Given the description of an element on the screen output the (x, y) to click on. 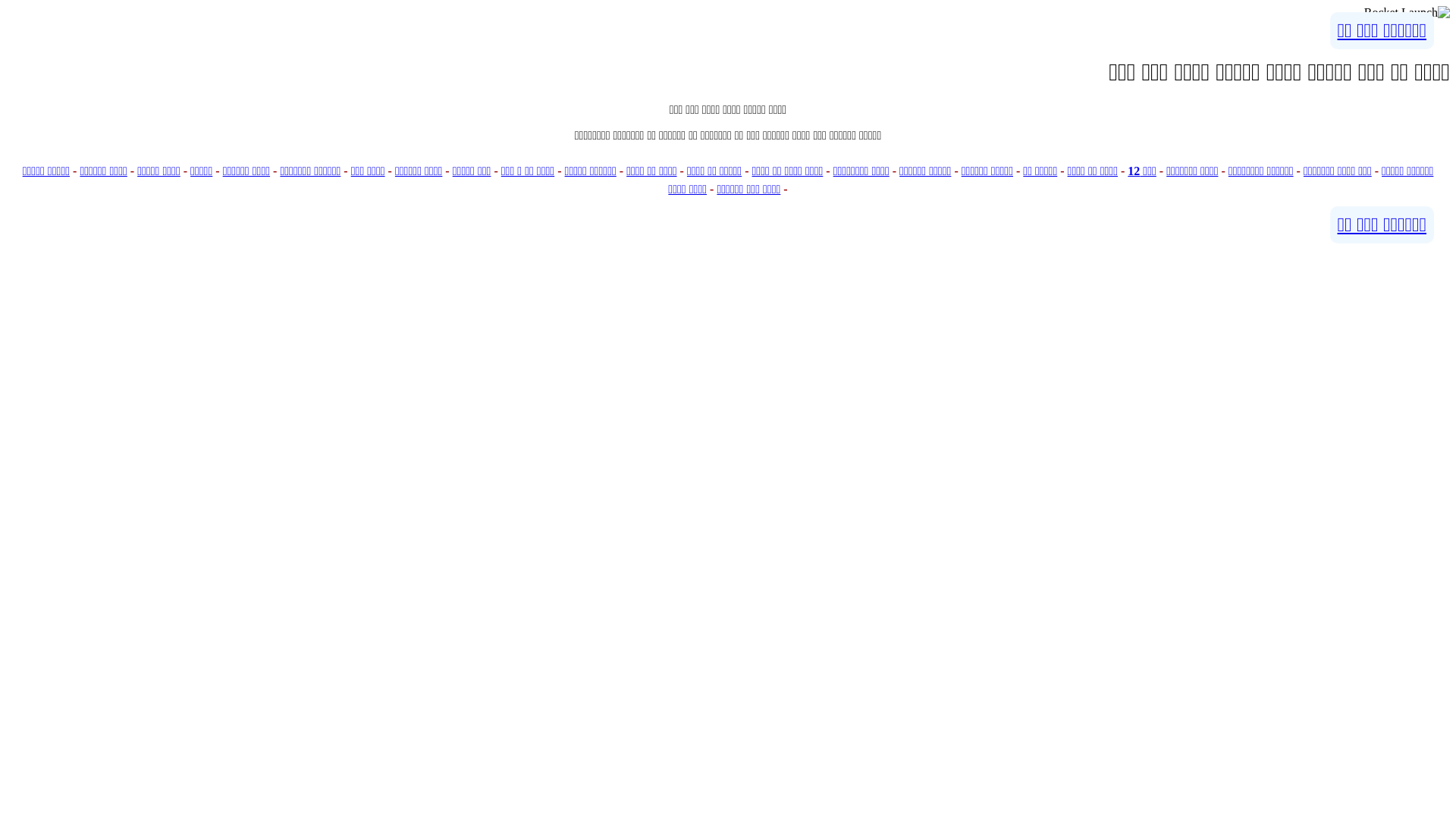
Rocket Launch Element type: hover (1406, 12)
